Given the description of an element on the screen output the (x, y) to click on. 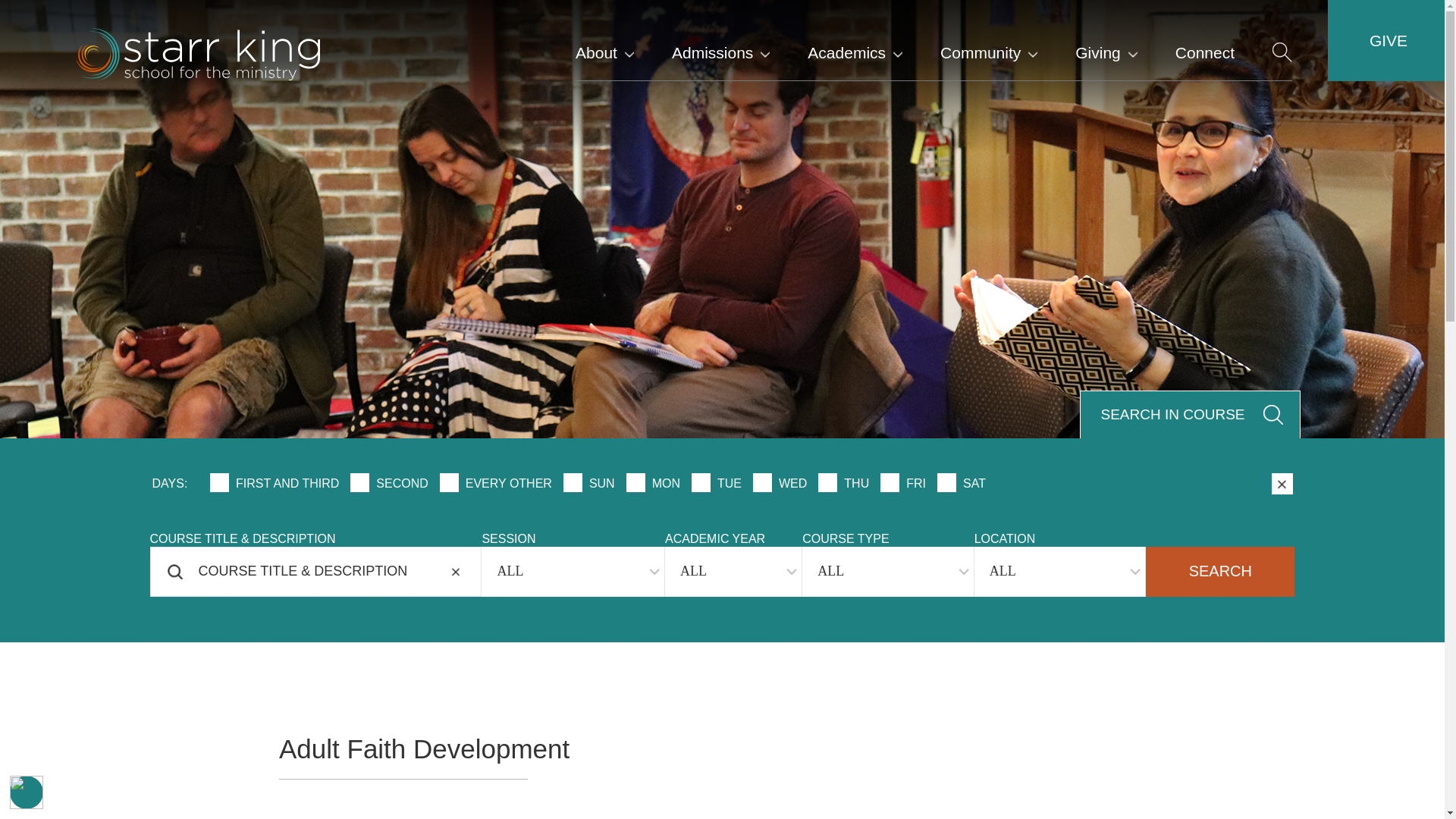
sat (948, 482)
thu (829, 482)
fri (891, 482)
Academics (855, 40)
Search (1219, 572)
wed (765, 482)
every-other (451, 482)
every-other (451, 482)
first-and-third (221, 482)
first-and-third (221, 482)
